Given the description of an element on the screen output the (x, y) to click on. 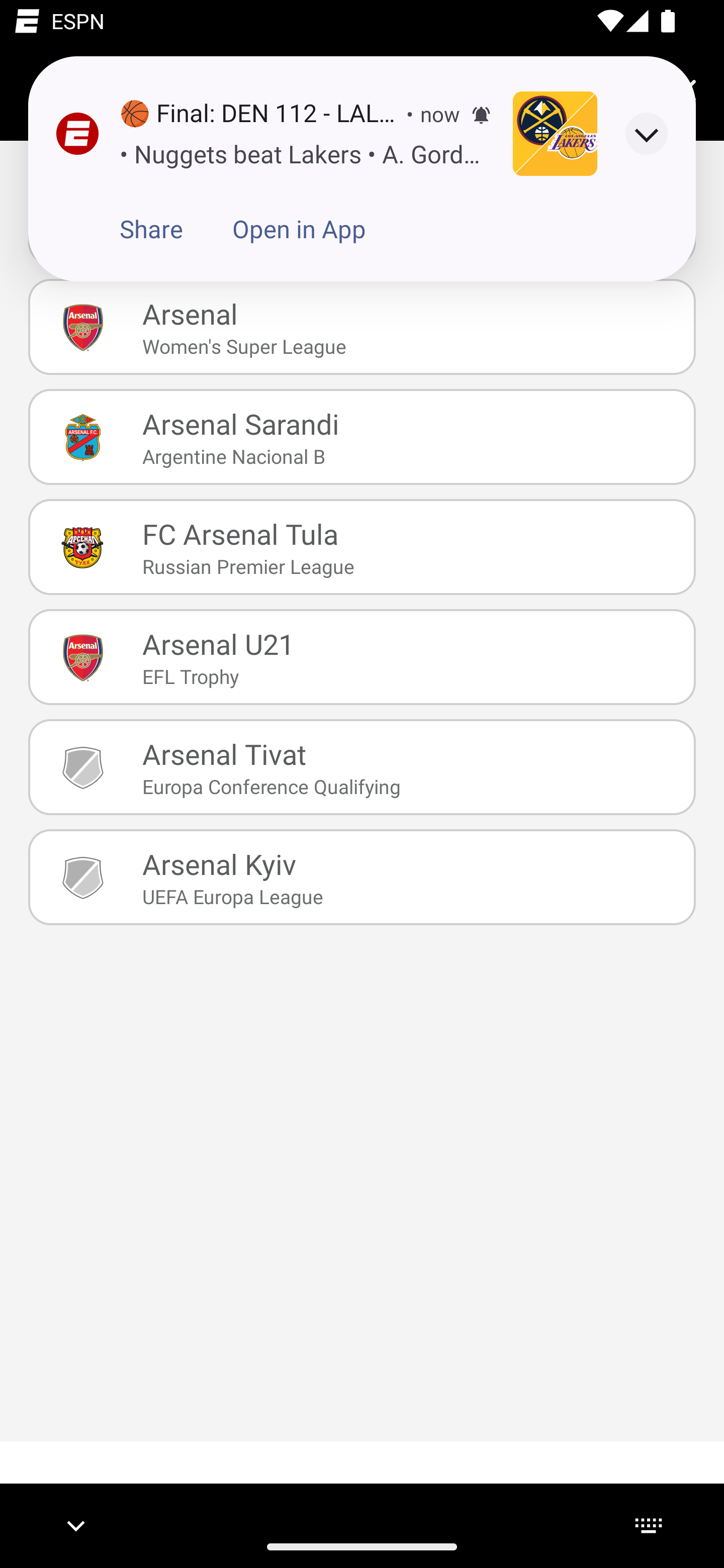
Arsenal Women's Super League (361, 326)
Arsenal Sarandi Argentine Nacional B (361, 436)
FC Arsenal Tula Russian Premier League (361, 546)
Arsenal U21 EFL Trophy (361, 656)
Arsenal Tivat Europa Conference Qualifying (361, 767)
Arsenal Kyiv UEFA Europa League (361, 877)
